Given the description of an element on the screen output the (x, y) to click on. 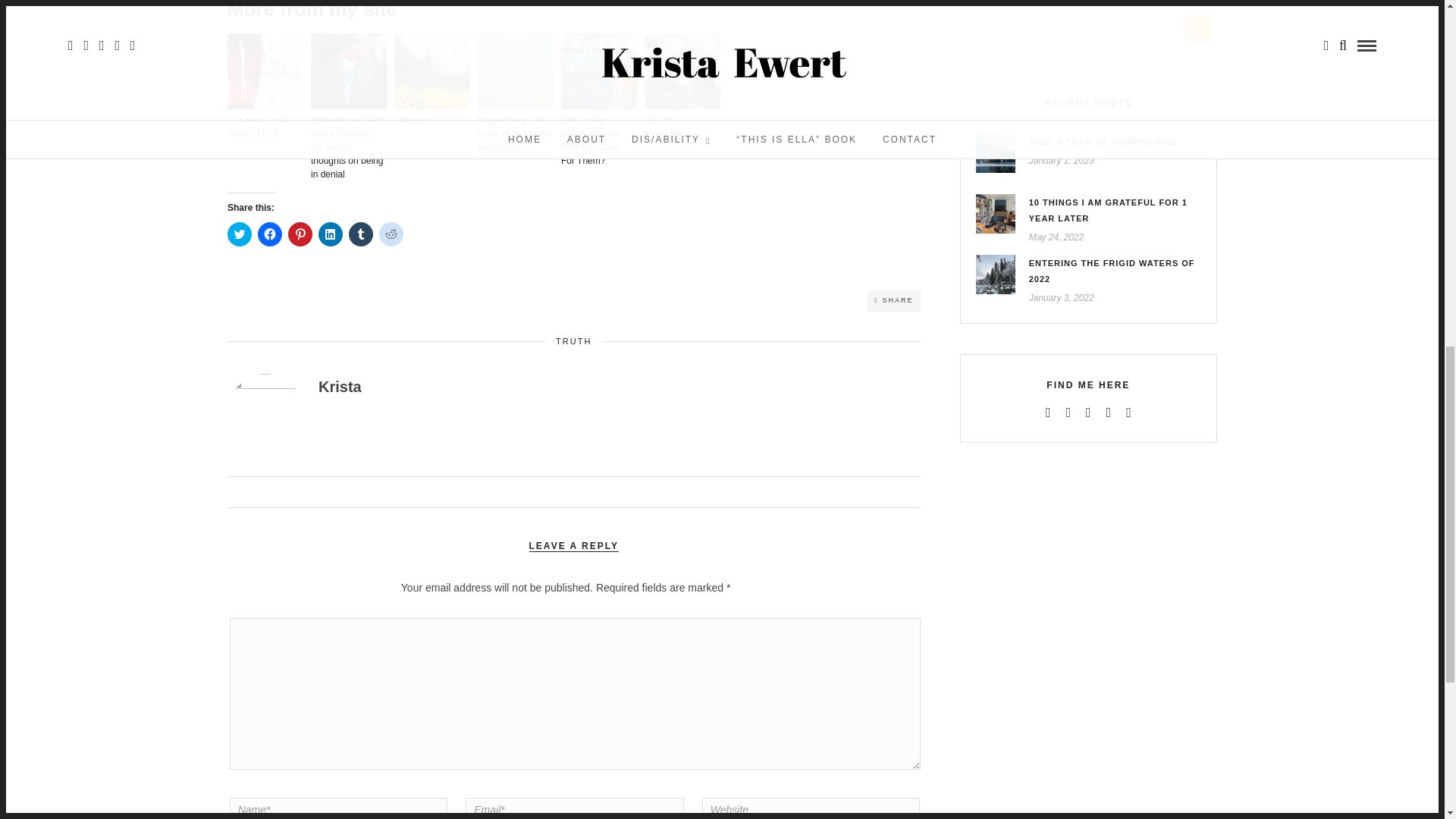
Who Is My Neighbour and How Do I Care For Them? (598, 140)
Click to share on Pinterest (300, 233)
Click to share on Tumblr (360, 233)
Click to share on Twitter (239, 233)
Click to share on LinkedIn (330, 233)
Click to share on Facebook (269, 233)
Click to share on Reddit (390, 233)
Absence. (432, 119)
30 Loves for 30 Years: 11-15 (264, 126)
